Given the description of an element on the screen output the (x, y) to click on. 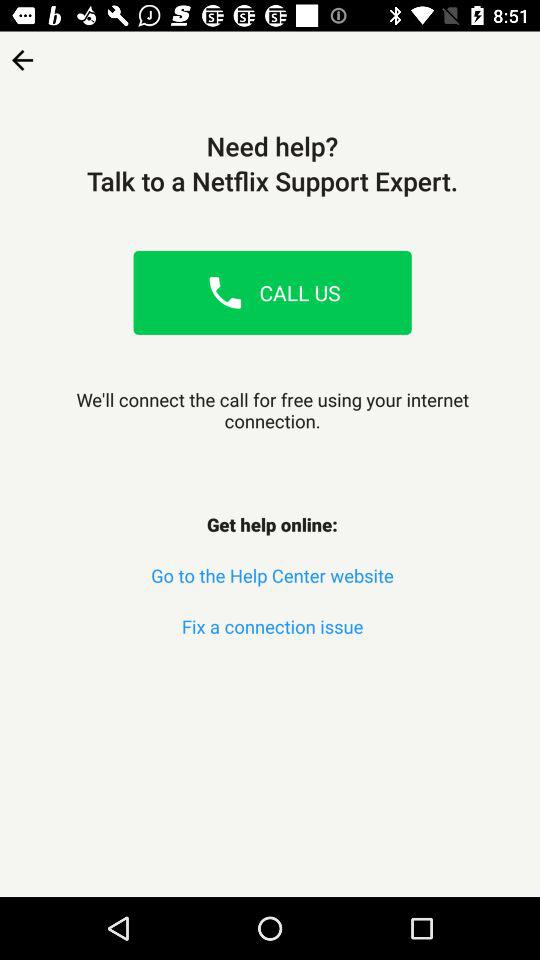
tap the icon to the left of call us (225, 292)
